Given the description of an element on the screen output the (x, y) to click on. 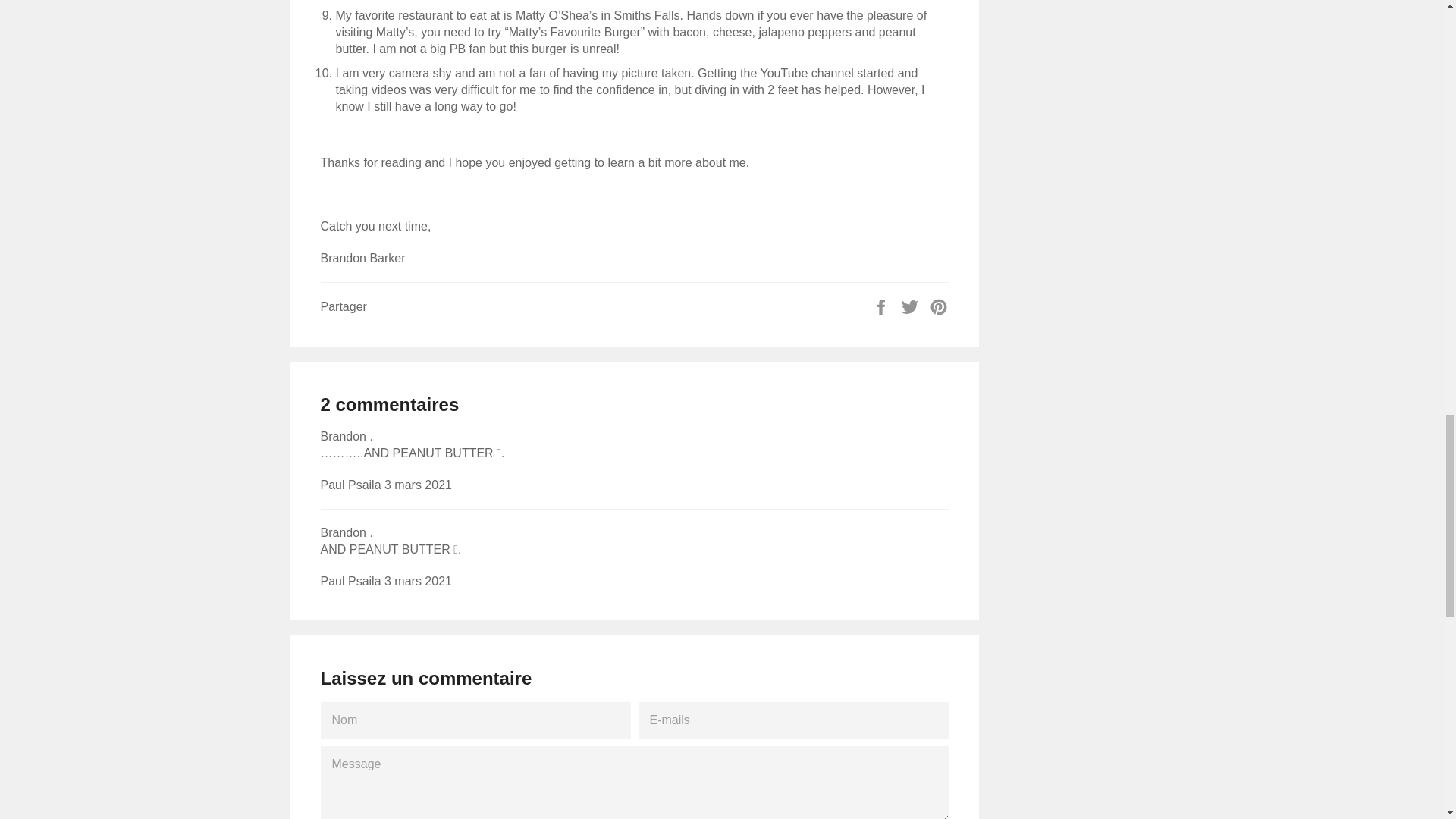
Partager sur Facebook (882, 305)
Tweeter sur Twitter (911, 305)
